Given the description of an element on the screen output the (x, y) to click on. 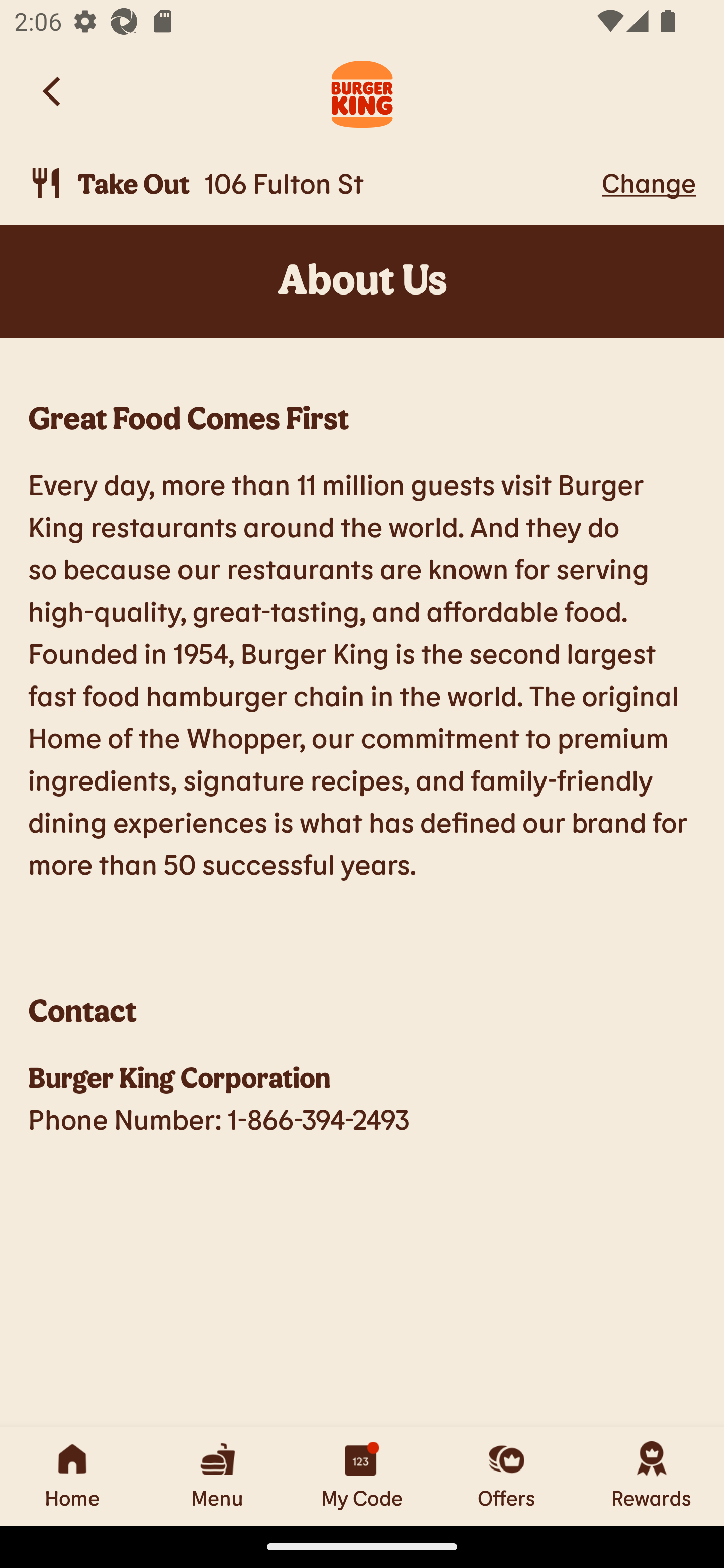
Burger King Logo. Navigate to Home (362, 91)
Back (52, 91)
Take Out, 106 Fulton St  Take Out 106 Fulton St (311, 183)
Change (648, 182)
Home (72, 1475)
Menu (216, 1475)
My Code (361, 1475)
Offers (506, 1475)
Rewards (651, 1475)
